Given the description of an element on the screen output the (x, y) to click on. 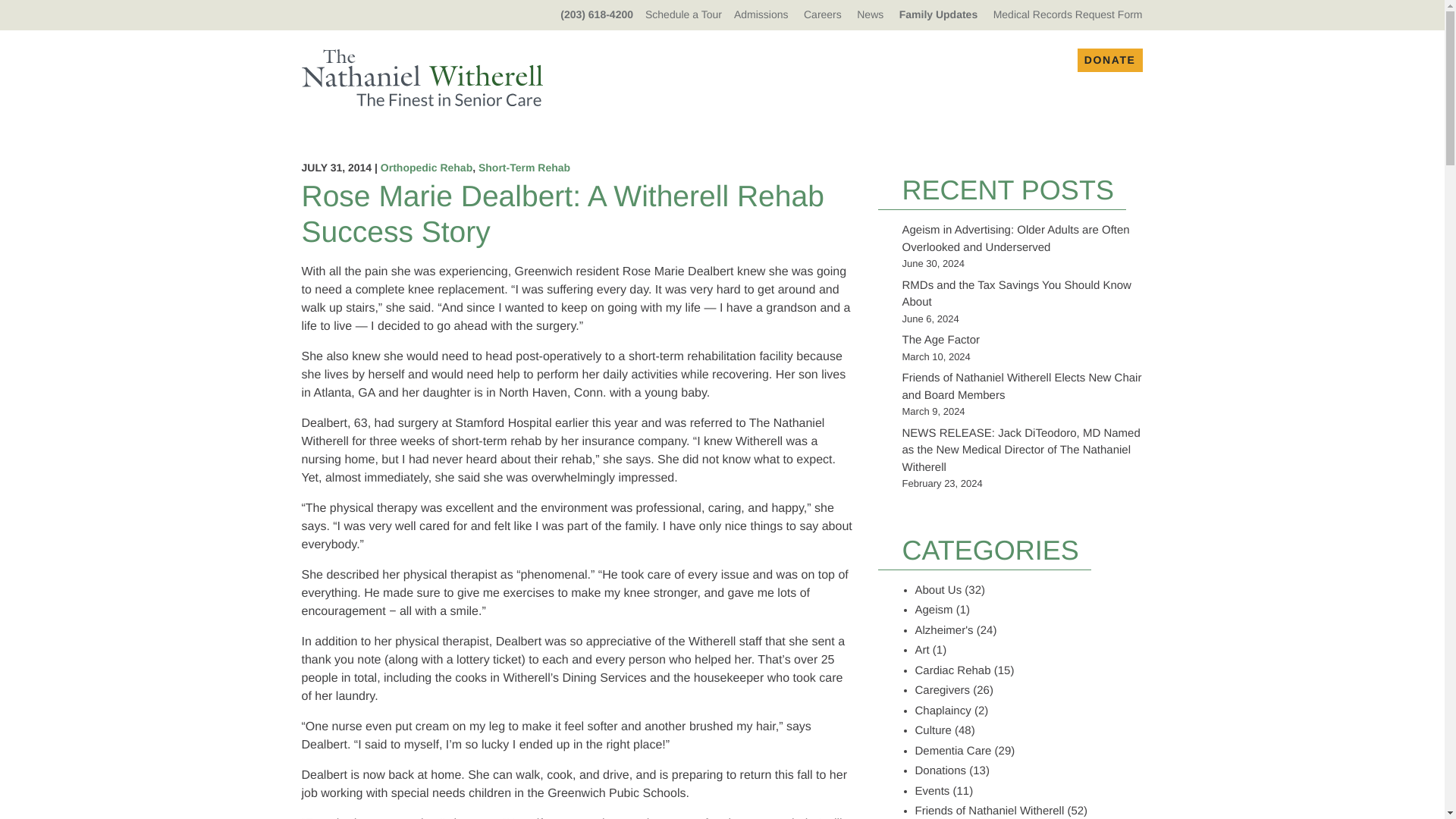
DONATE (1109, 60)
short-term rehab (496, 440)
Short-Term Rehab (524, 167)
The Nathaniel Witherell (563, 431)
Orthopedic Rehab (425, 167)
Careers (822, 14)
Family Updates (937, 14)
News (870, 14)
Schedule a Tour (683, 14)
Admissions (761, 14)
Medical Records Request Form (1067, 14)
Greenwich Pubic Schools (616, 793)
